Given the description of an element on the screen output the (x, y) to click on. 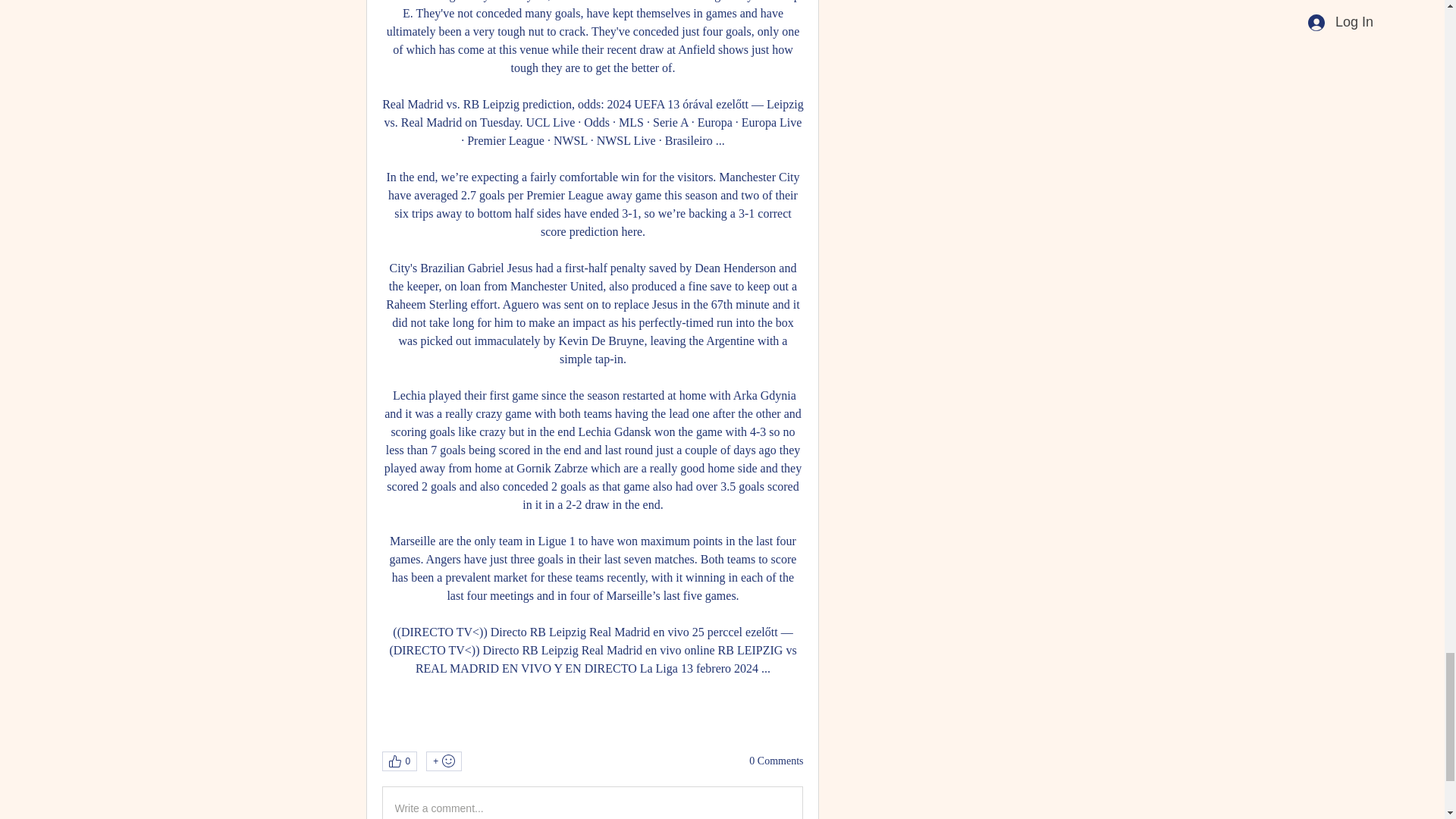
0 Comments (776, 761)
Write a comment... (591, 803)
